Given the description of an element on the screen output the (x, y) to click on. 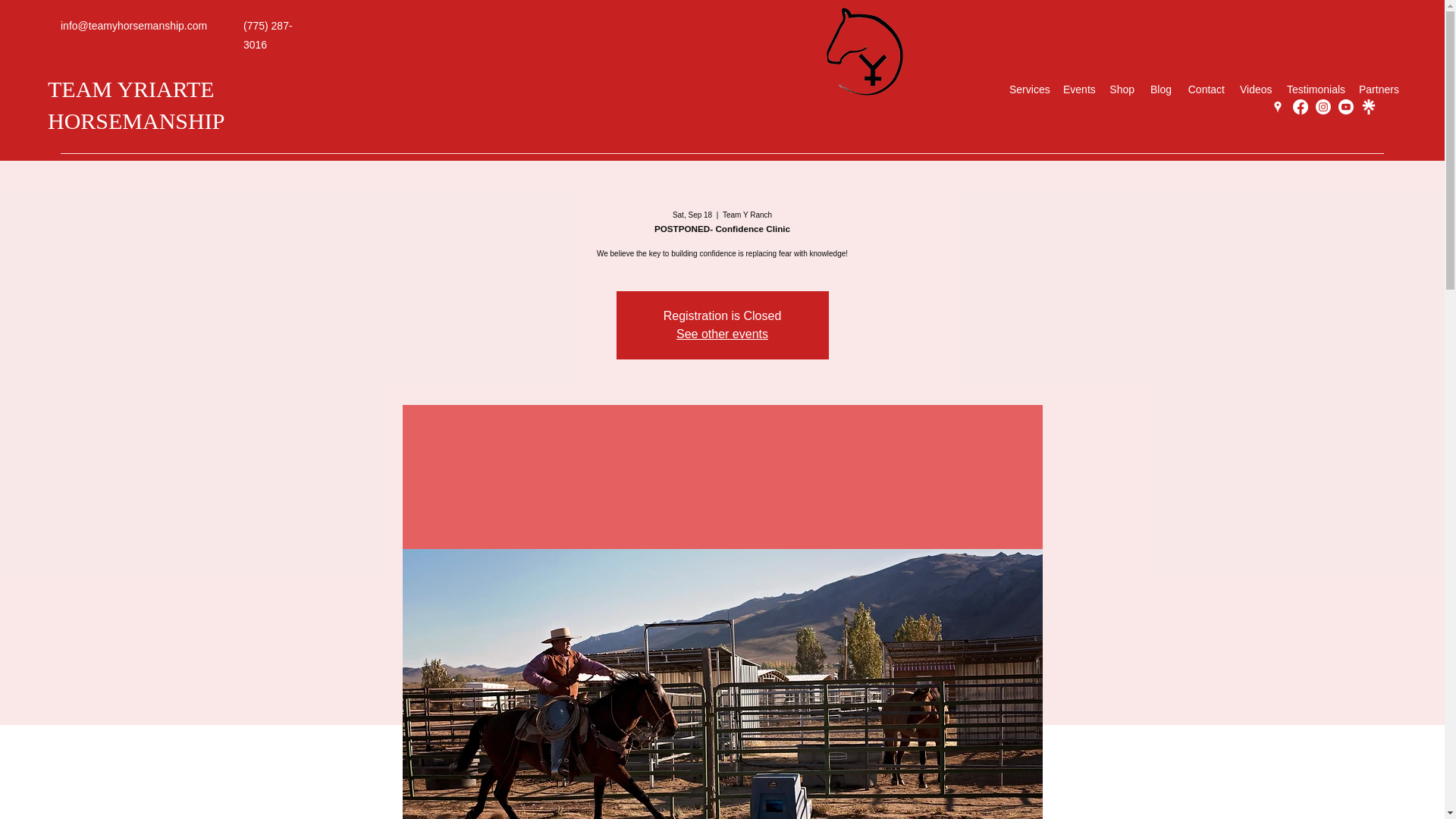
Blog (1160, 89)
Shop (1121, 89)
TEAM YRIARTE HORSEMANSHIP (136, 104)
Testimonials (1315, 89)
Services (1028, 89)
Videos (1255, 89)
Contact (1205, 89)
Partners (1378, 89)
Events (1078, 89)
See other events (722, 333)
